Given the description of an element on the screen output the (x, y) to click on. 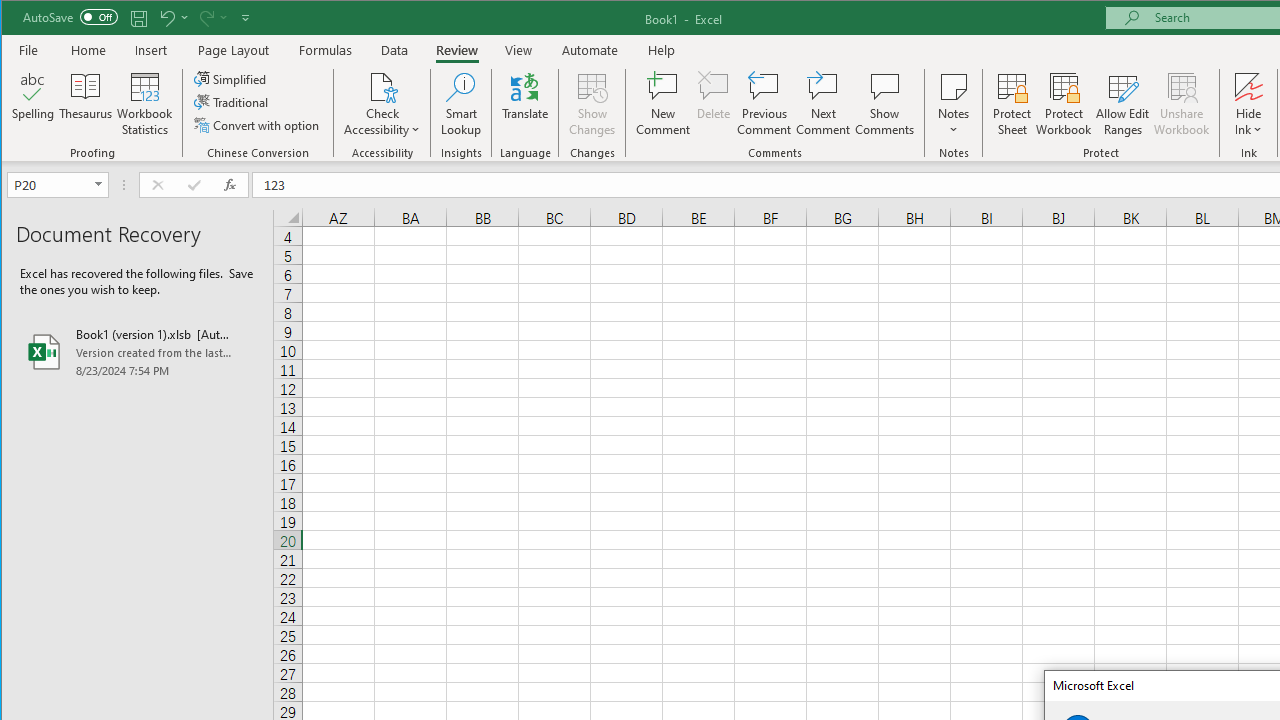
Protect Workbook... (1064, 104)
Smart Lookup (461, 104)
